Given the description of an element on the screen output the (x, y) to click on. 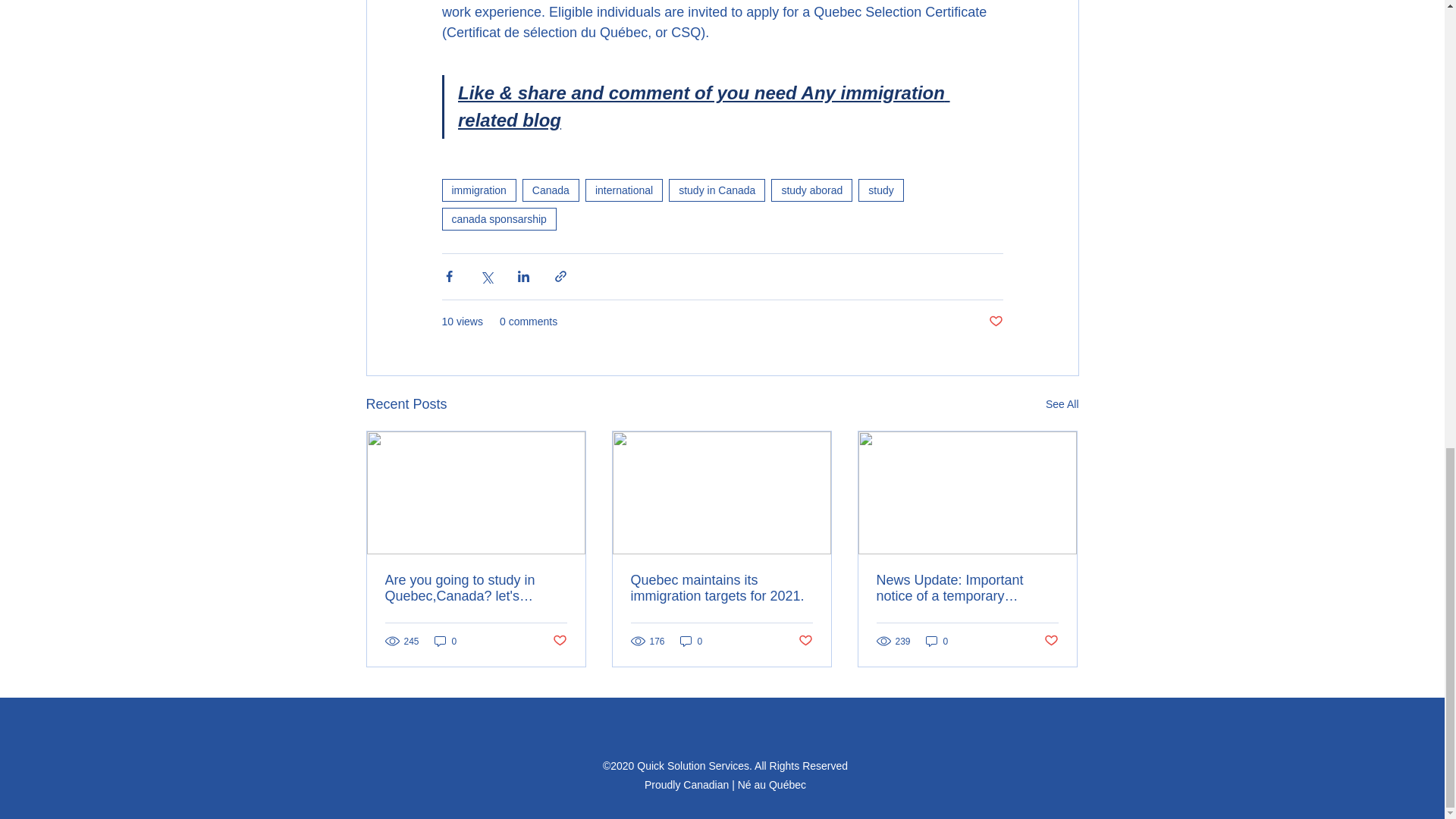
immigration (478, 190)
Canada (550, 190)
study in Canada (716, 190)
study aborad (811, 190)
international (623, 190)
canada sponsarship (498, 219)
study (880, 190)
